Given the description of an element on the screen output the (x, y) to click on. 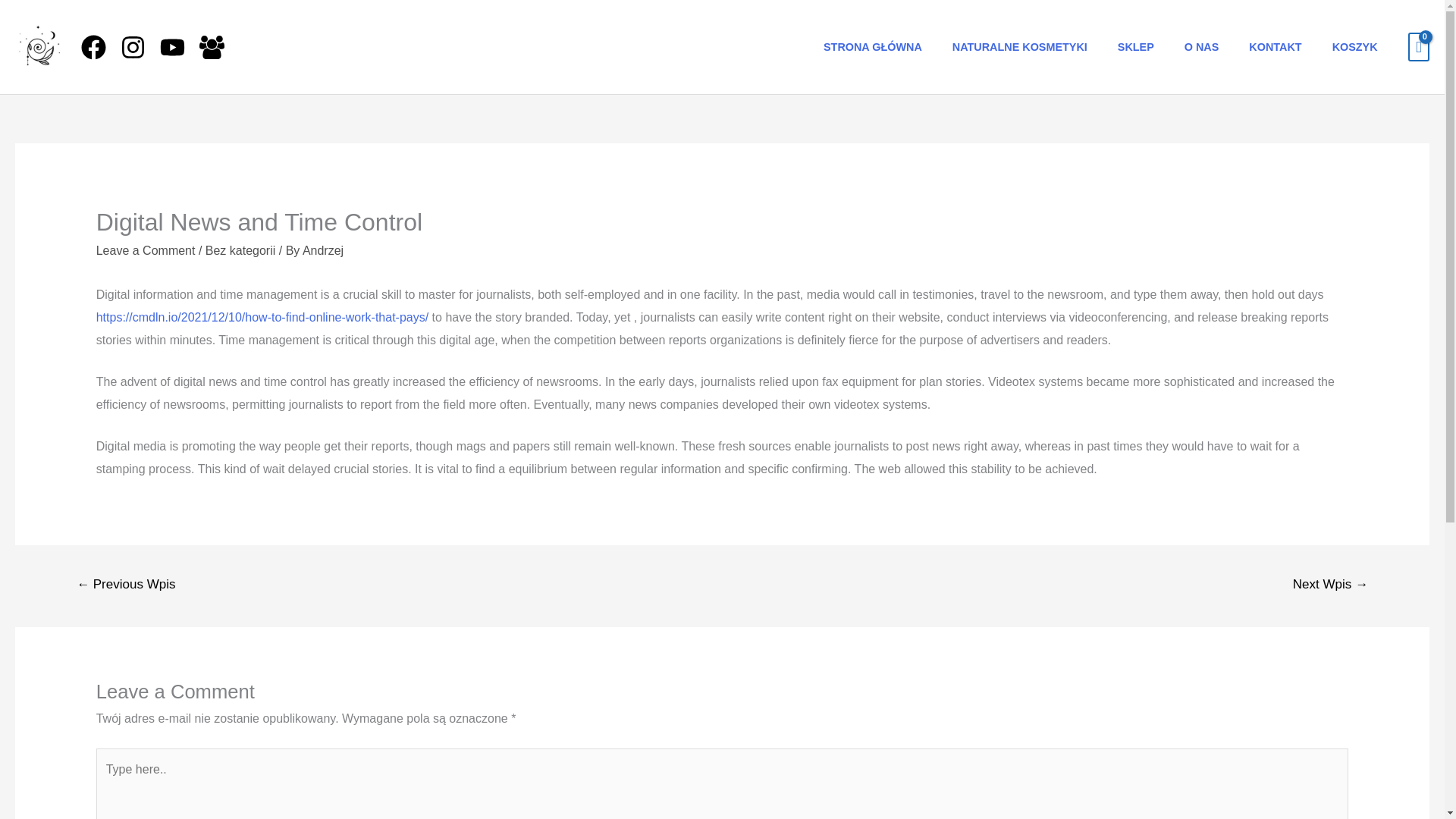
KONTAKT (1274, 47)
O NAS (1201, 47)
View all posts by Andrzej (322, 250)
Leave a Comment (145, 250)
NATURALNE KOSMETYKI (1019, 47)
SKLEP (1135, 47)
Andrzej (322, 250)
KOSZYK (1355, 47)
Bez kategorii (240, 250)
